Given the description of an element on the screen output the (x, y) to click on. 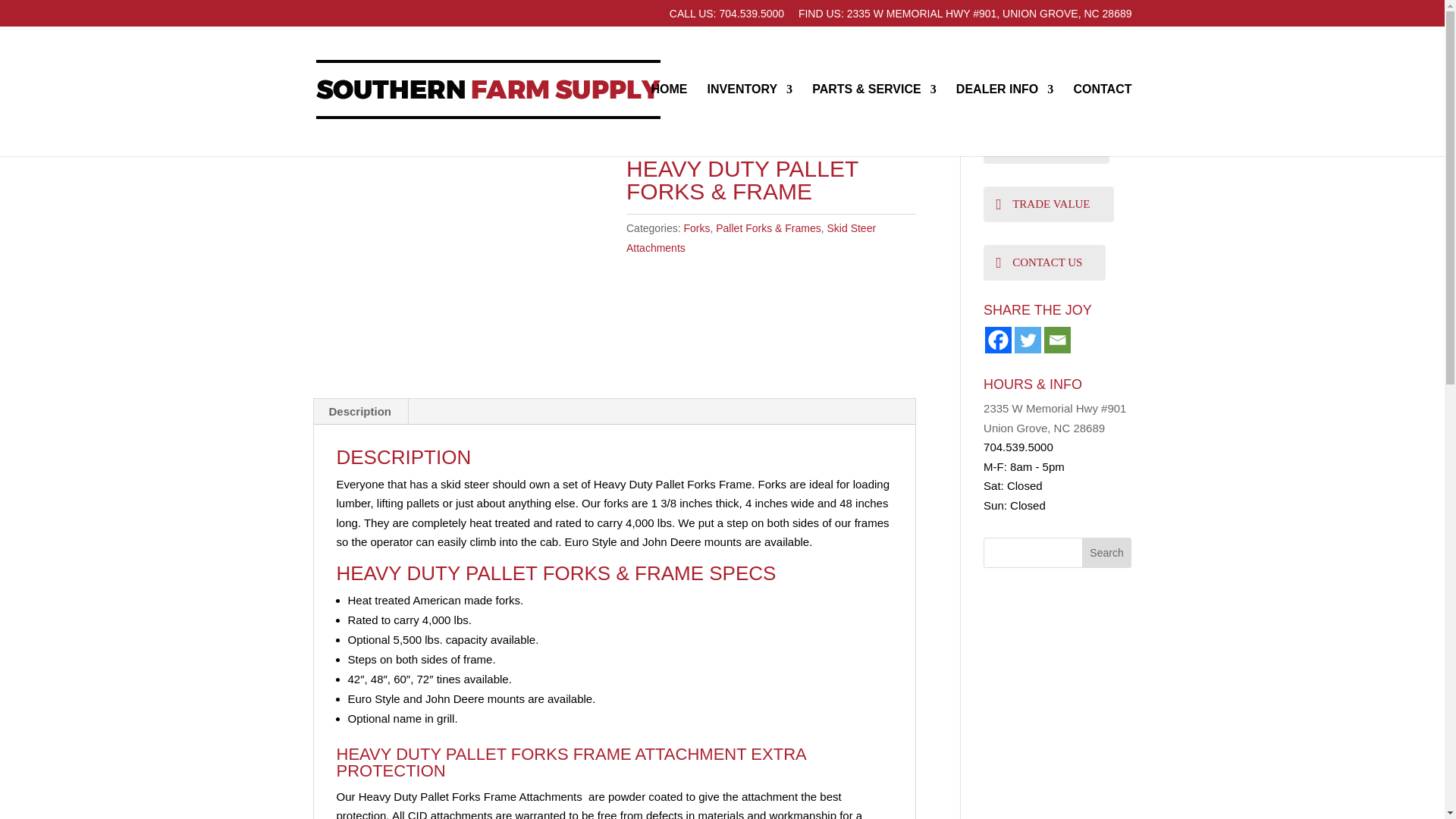
Twitter (1027, 339)
Search (1106, 552)
INVENTORY (749, 114)
CONTACT (1102, 114)
CALL US: 704.539.5000 (726, 16)
Home (326, 137)
Facebook (998, 339)
Skid Steer Attachments (403, 137)
Email (1056, 339)
DEALER INFO (1004, 114)
